Given the description of an element on the screen output the (x, y) to click on. 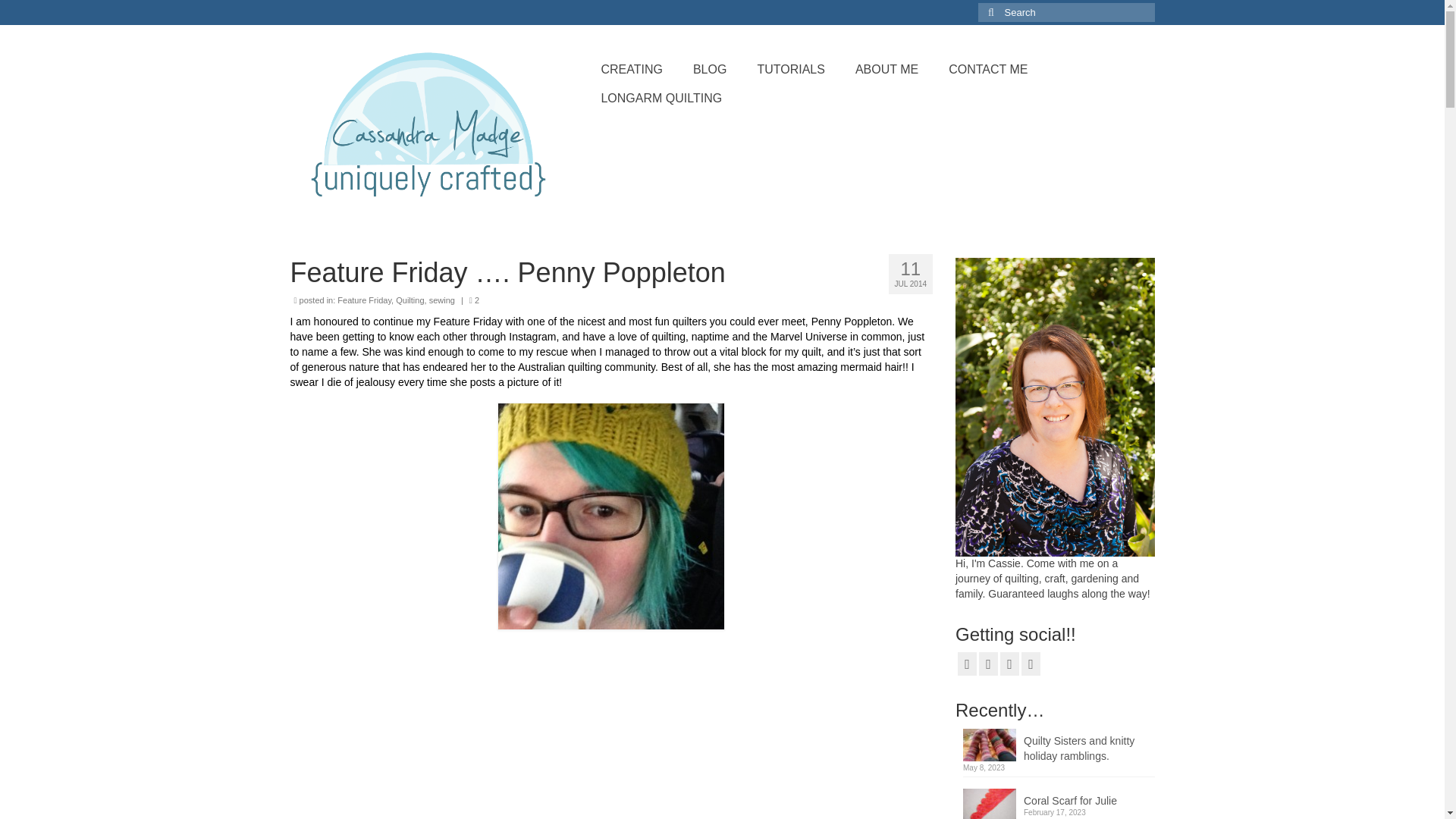
Quilty Sisters and knitty holiday ramblings. (1058, 745)
ABOUT ME (886, 69)
CONTACT ME (987, 69)
Feature Friday (364, 299)
CREATING (631, 69)
Coral Scarf for Julie (1058, 798)
Instagram (532, 336)
Penny Poppleton (851, 321)
sewing (441, 299)
Quilting (409, 299)
LONGARM QUILTING (660, 98)
TUTORIALS (790, 69)
BLOG (709, 69)
